Given the description of an element on the screen output the (x, y) to click on. 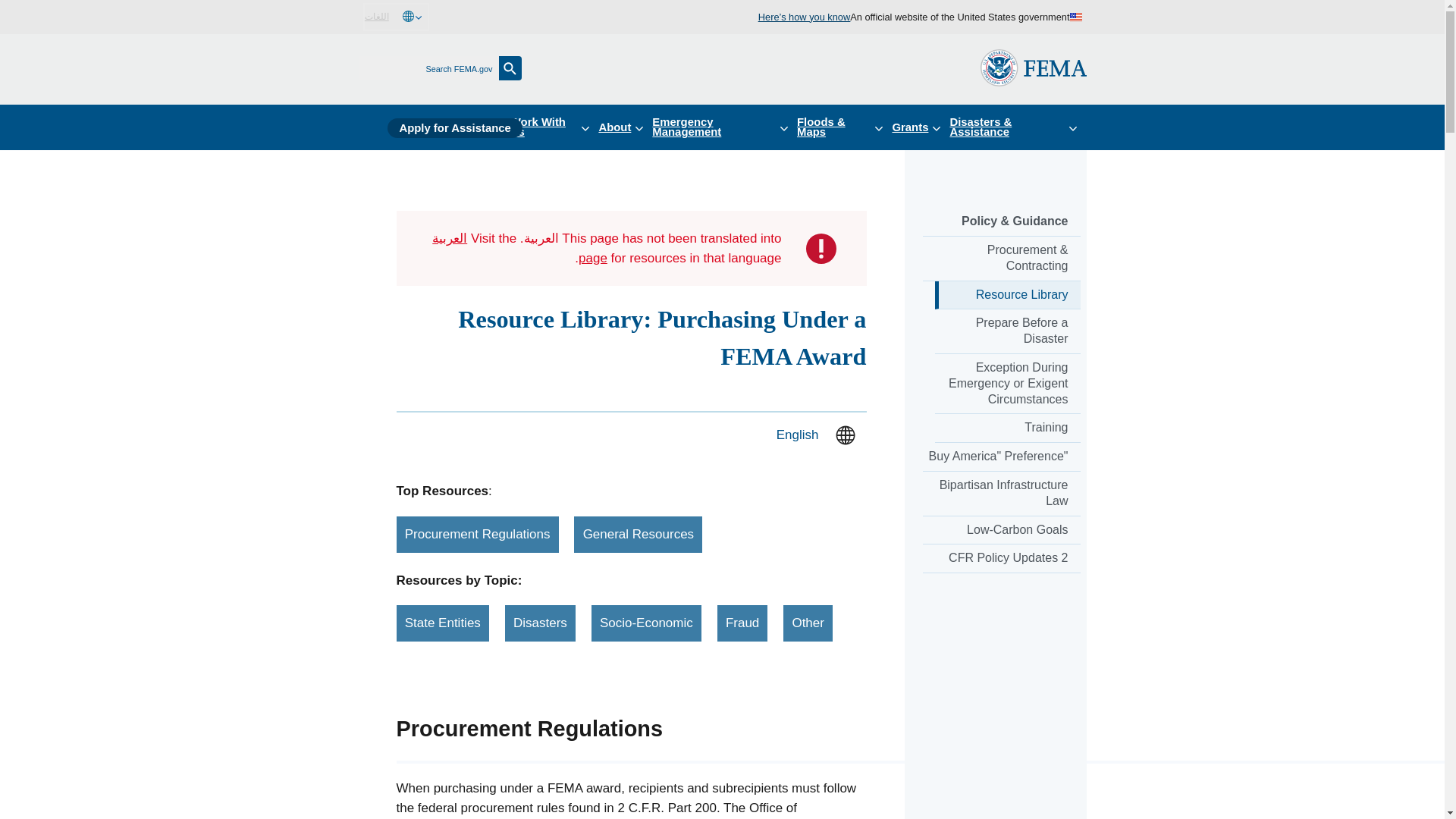
About (625, 126)
Bipartisan Infrastructure Law (1000, 493)
English (797, 434)
Search FEMA.gov (510, 68)
Search FEMA.gov (510, 68)
Work With Us (554, 126)
State Entities (442, 623)
Prepare Before a Disaster (1007, 331)
Emergency Management (724, 126)
Fraud (742, 623)
Procurement Regulations (476, 534)
Grants (920, 126)
Training (1007, 428)
Low-Carbon Goals (1000, 530)
Resource Library (1007, 295)
